Given the description of an element on the screen output the (x, y) to click on. 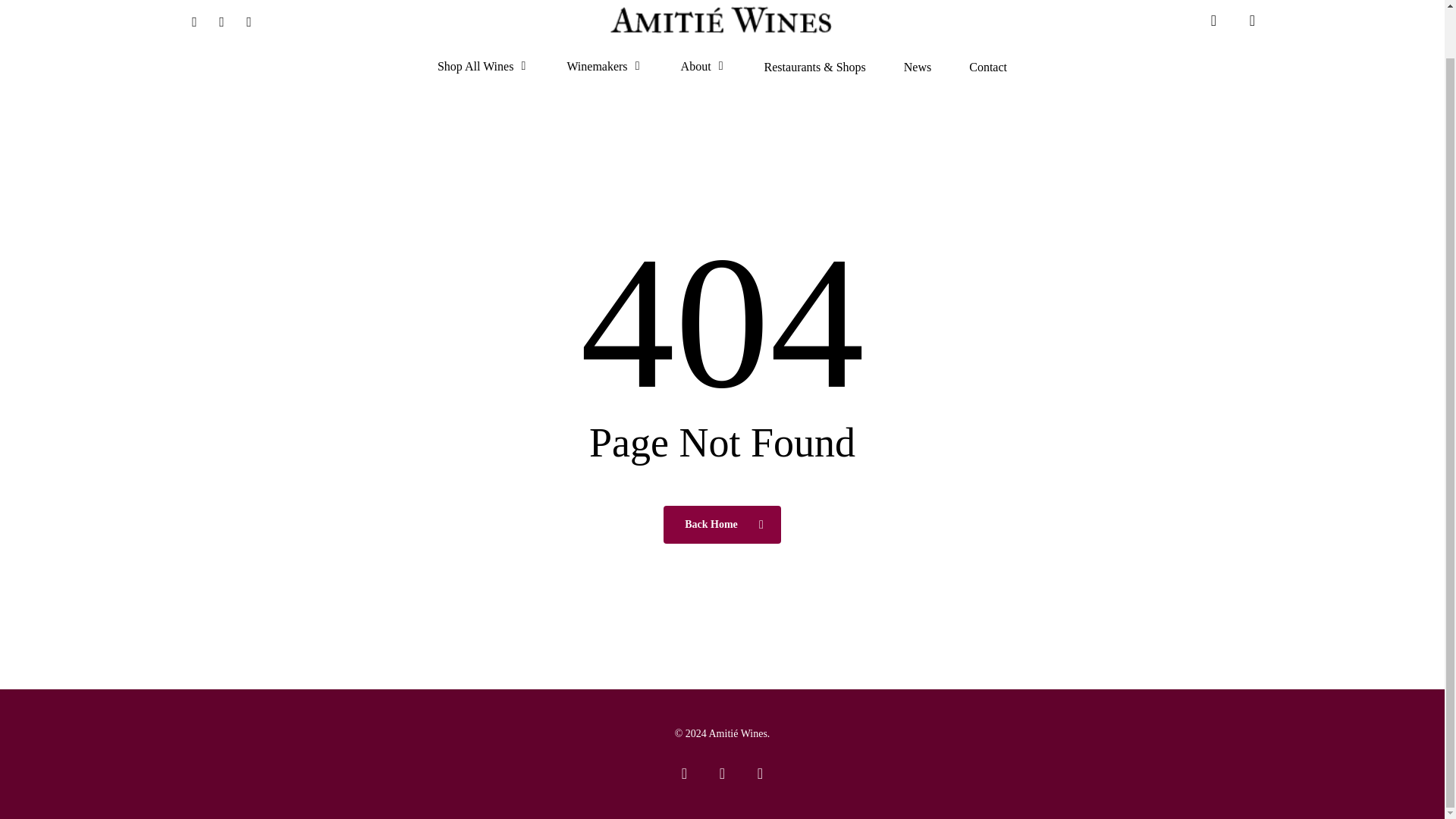
Email (248, 19)
Winemakers (604, 66)
search (1213, 19)
Instagram (221, 19)
Facebook (194, 19)
Contact (988, 67)
News (917, 67)
Shop All Wines (483, 66)
About (703, 66)
